Given the description of an element on the screen output the (x, y) to click on. 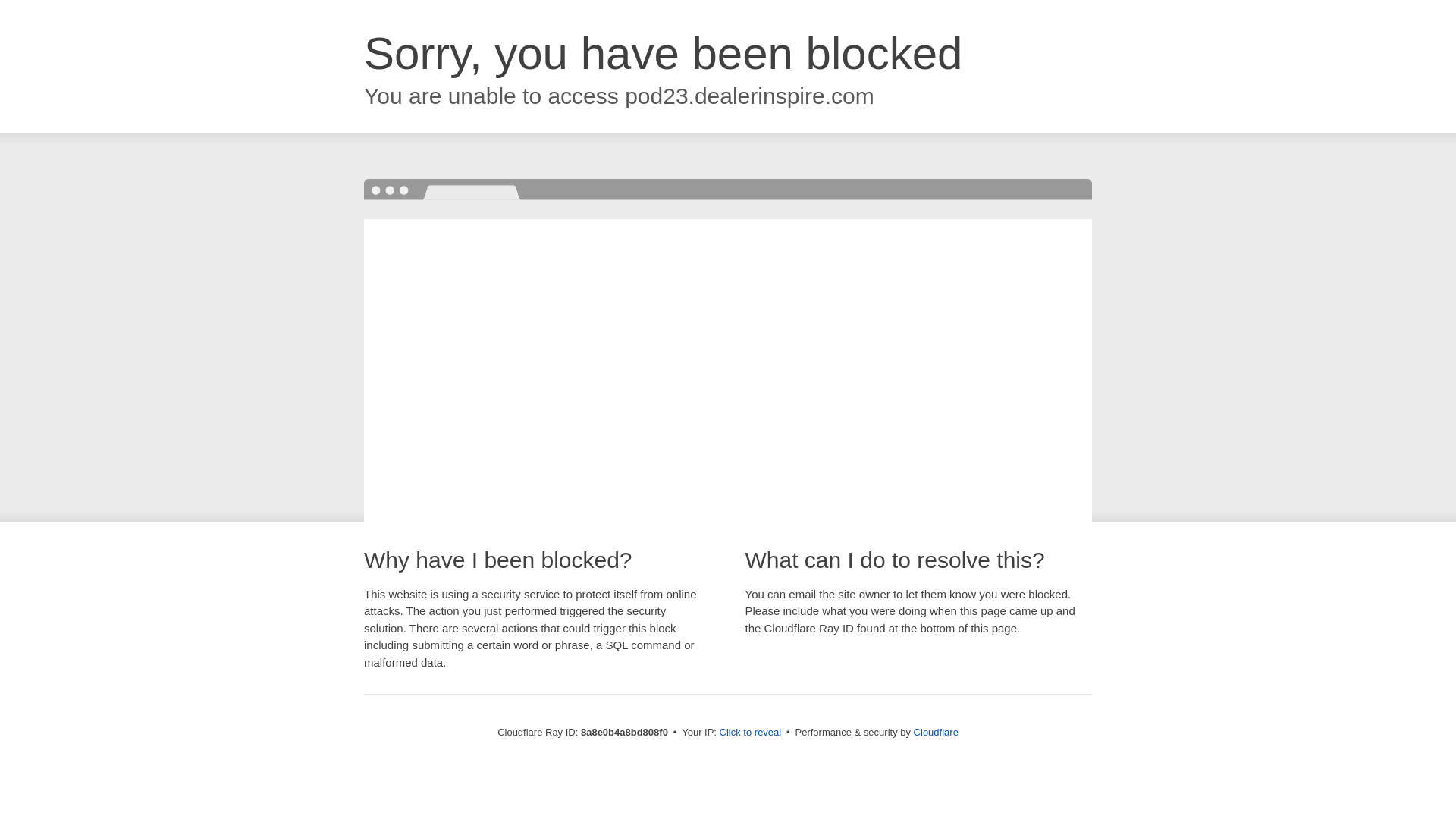
Cloudflare (936, 731)
Click to reveal (750, 732)
